Given the description of an element on the screen output the (x, y) to click on. 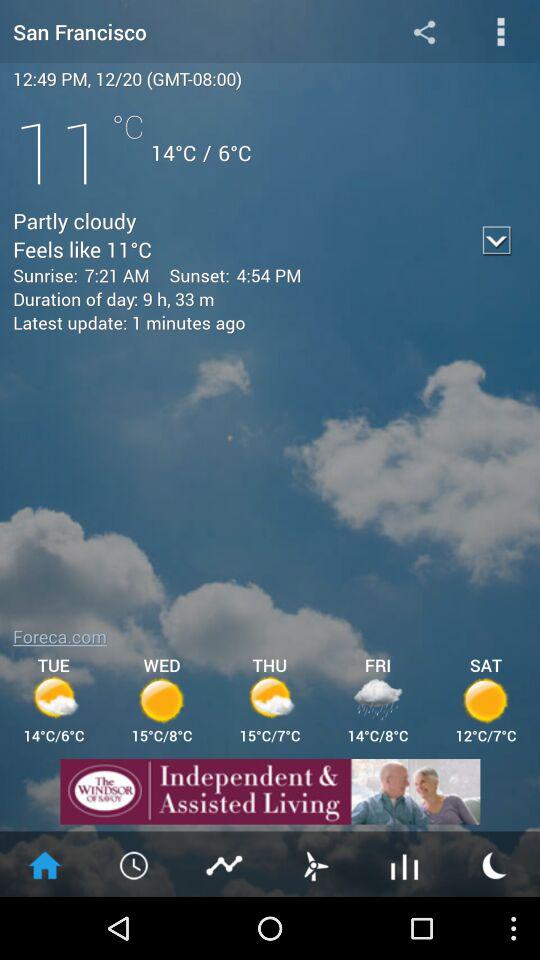
click the button to get more settings (500, 31)
